Given the description of an element on the screen output the (x, y) to click on. 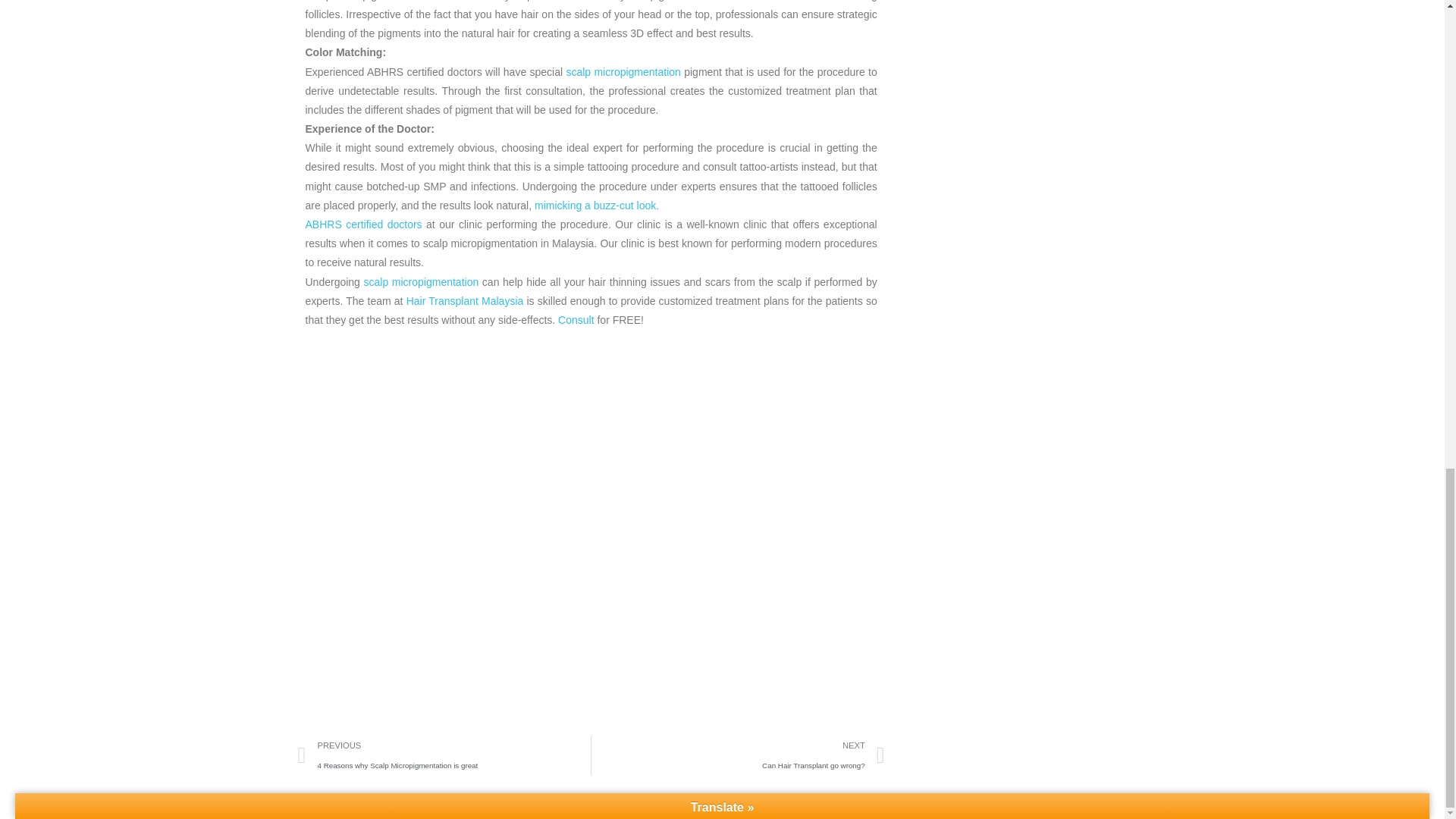
ABHRS certified doctors (363, 224)
scalp micropigmentation (421, 282)
Hair Transplant Malaysia (465, 300)
scalp micropigmentation (621, 71)
mimicking a buzz-cut look. (738, 754)
Consult (596, 205)
